Given the description of an element on the screen output the (x, y) to click on. 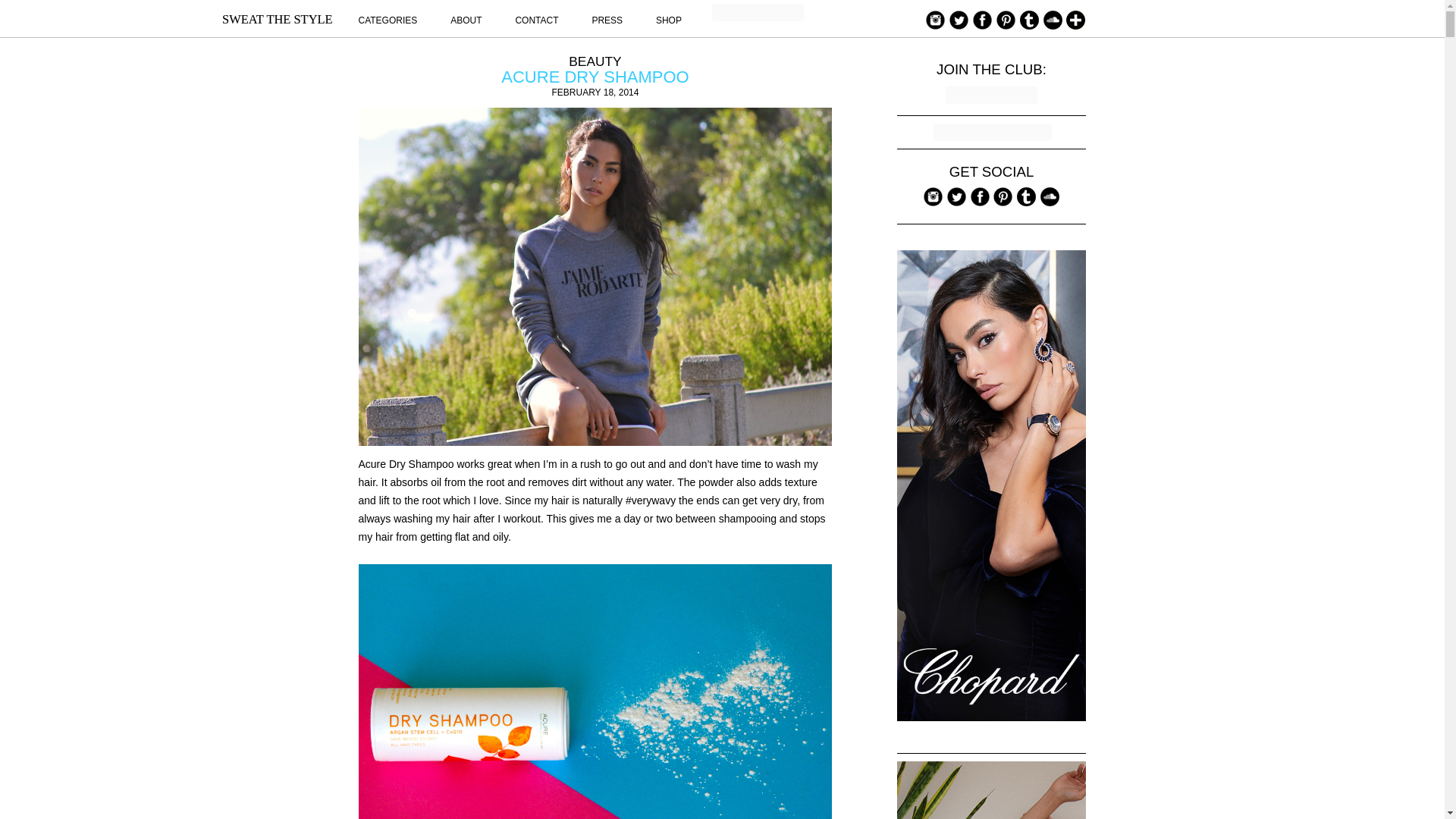
SHOP (668, 20)
CONTACT (536, 20)
ABOUT (465, 20)
5:36 pm (595, 91)
Skip to content (895, 9)
CATEGORIES (387, 20)
PRESS (607, 20)
Skip to content (895, 9)
